Given the description of an element on the screen output the (x, y) to click on. 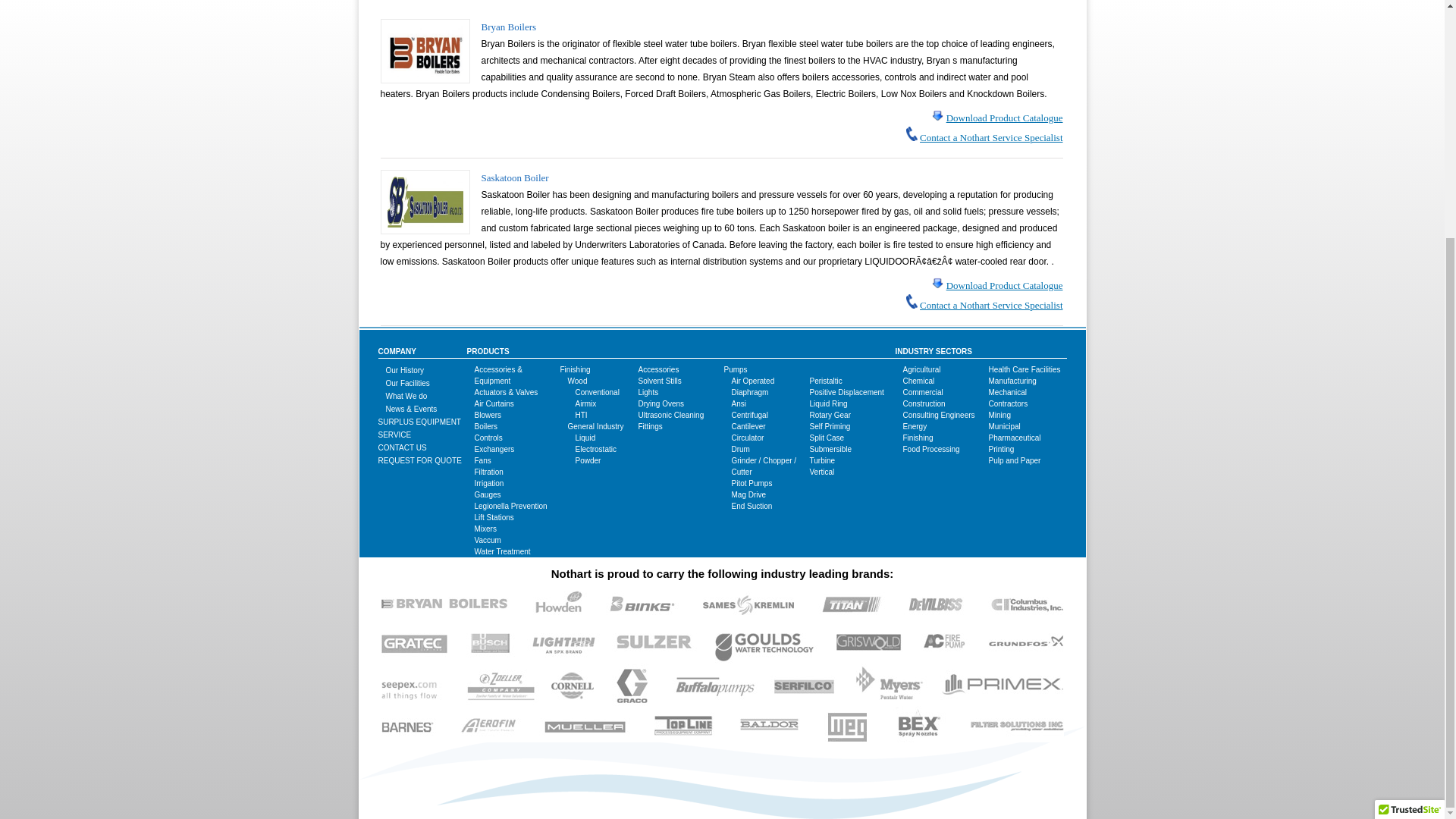
Air Curtains (493, 403)
Our History (404, 370)
Lift Stations (493, 517)
Exchangers (494, 449)
CONTACT US (401, 447)
Request For Quote (419, 460)
Contact Us (401, 447)
Our Facilities (407, 383)
Download Product Catalogue (1004, 117)
Service (393, 434)
Blowers (488, 415)
Mixers (485, 528)
Contact a Nothart Service Specialist (991, 137)
What We do (405, 396)
Gauges (487, 494)
